Given the description of an element on the screen output the (x, y) to click on. 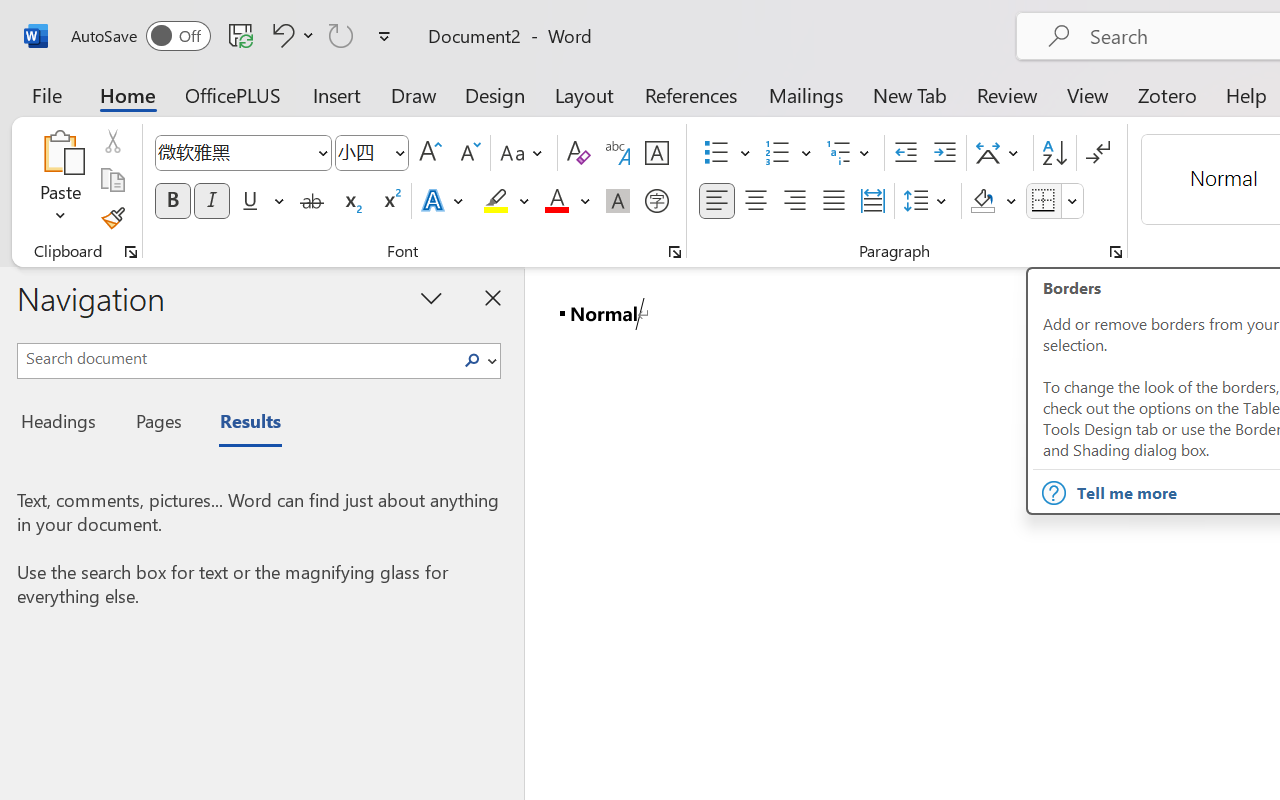
Search document (236, 358)
Font Color Red (556, 201)
Insert (337, 94)
Results (240, 424)
Undo Style (280, 35)
Paragraph... (1115, 252)
Distributed (872, 201)
Numbering (788, 153)
Draw (413, 94)
Text Effects and Typography (444, 201)
Can't Repeat (341, 35)
Review (1007, 94)
Layout (584, 94)
Phonetic Guide... (618, 153)
Character Border (656, 153)
